Given the description of an element on the screen output the (x, y) to click on. 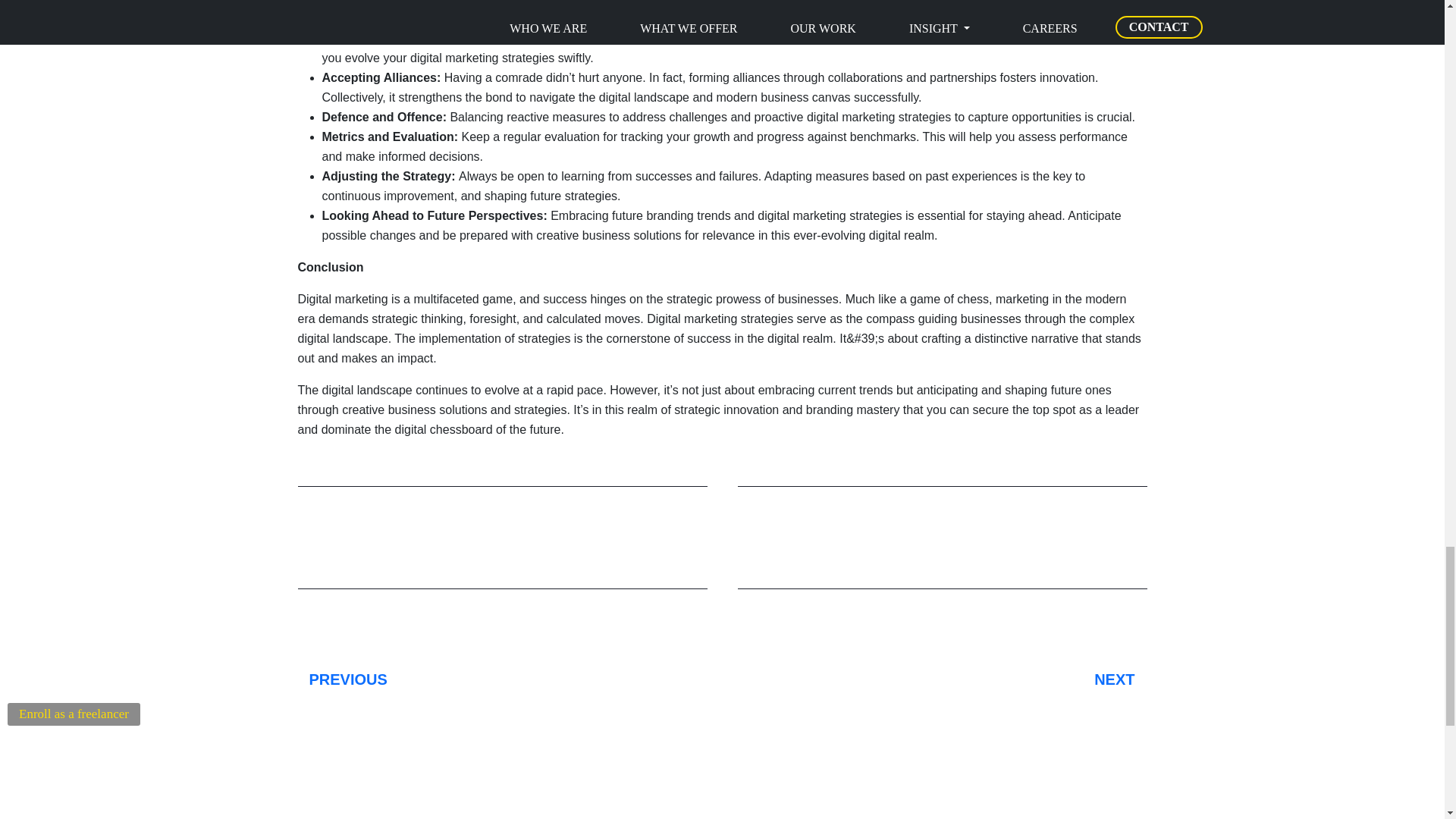
PREVIOUS (509, 679)
NEXT (934, 679)
